Given the description of an element on the screen output the (x, y) to click on. 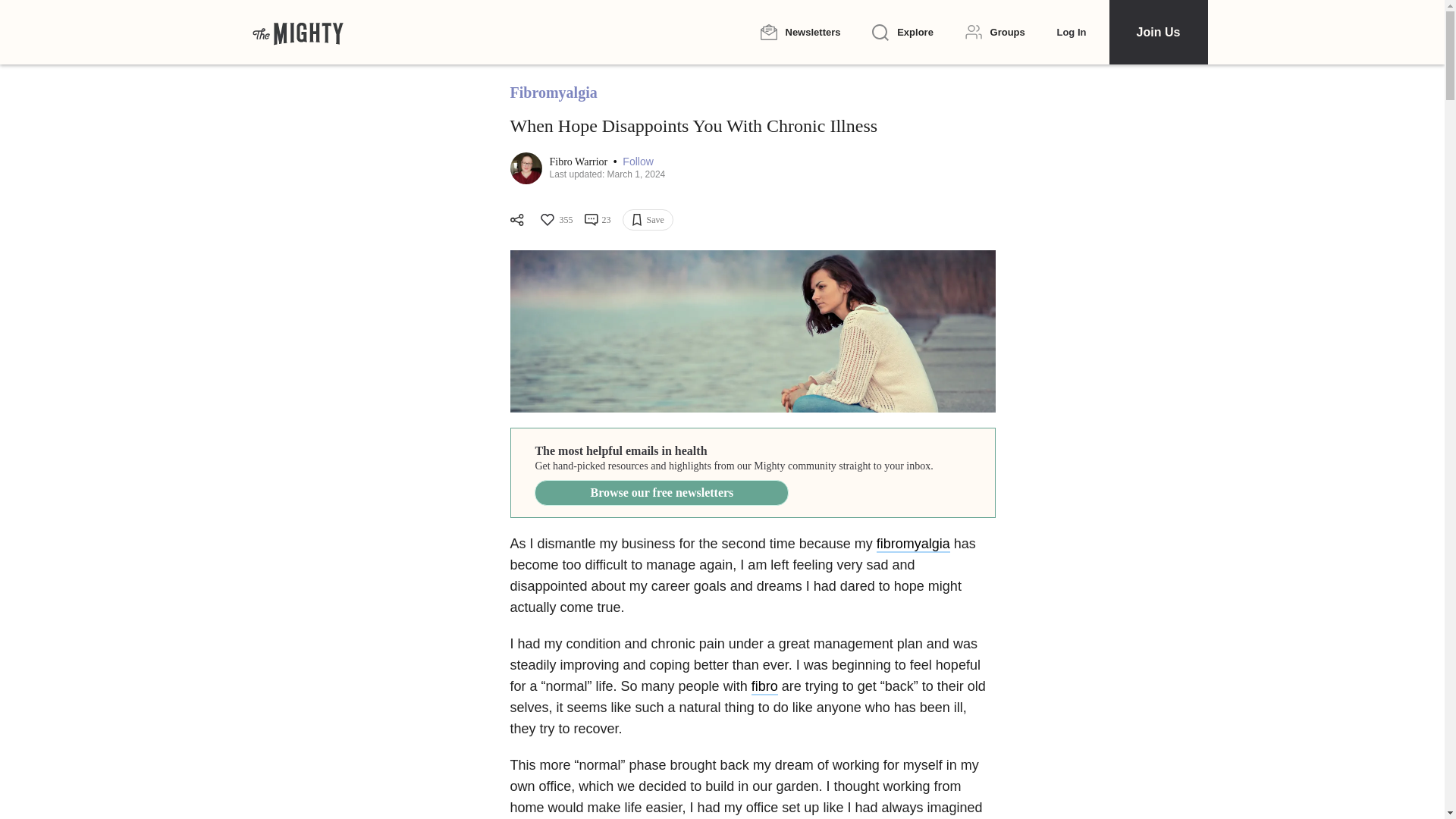
Browse our free newsletters (661, 492)
Save (646, 219)
The Mighty (296, 32)
Explore (902, 32)
355 (555, 219)
Follow (637, 161)
Join Us (1157, 32)
fibro (764, 686)
Fibromyalgia (552, 92)
fibromyalgia (913, 544)
23 (596, 219)
Newsletters (800, 31)
Fibro Warrior (579, 161)
Groups (995, 32)
